Given the description of an element on the screen output the (x, y) to click on. 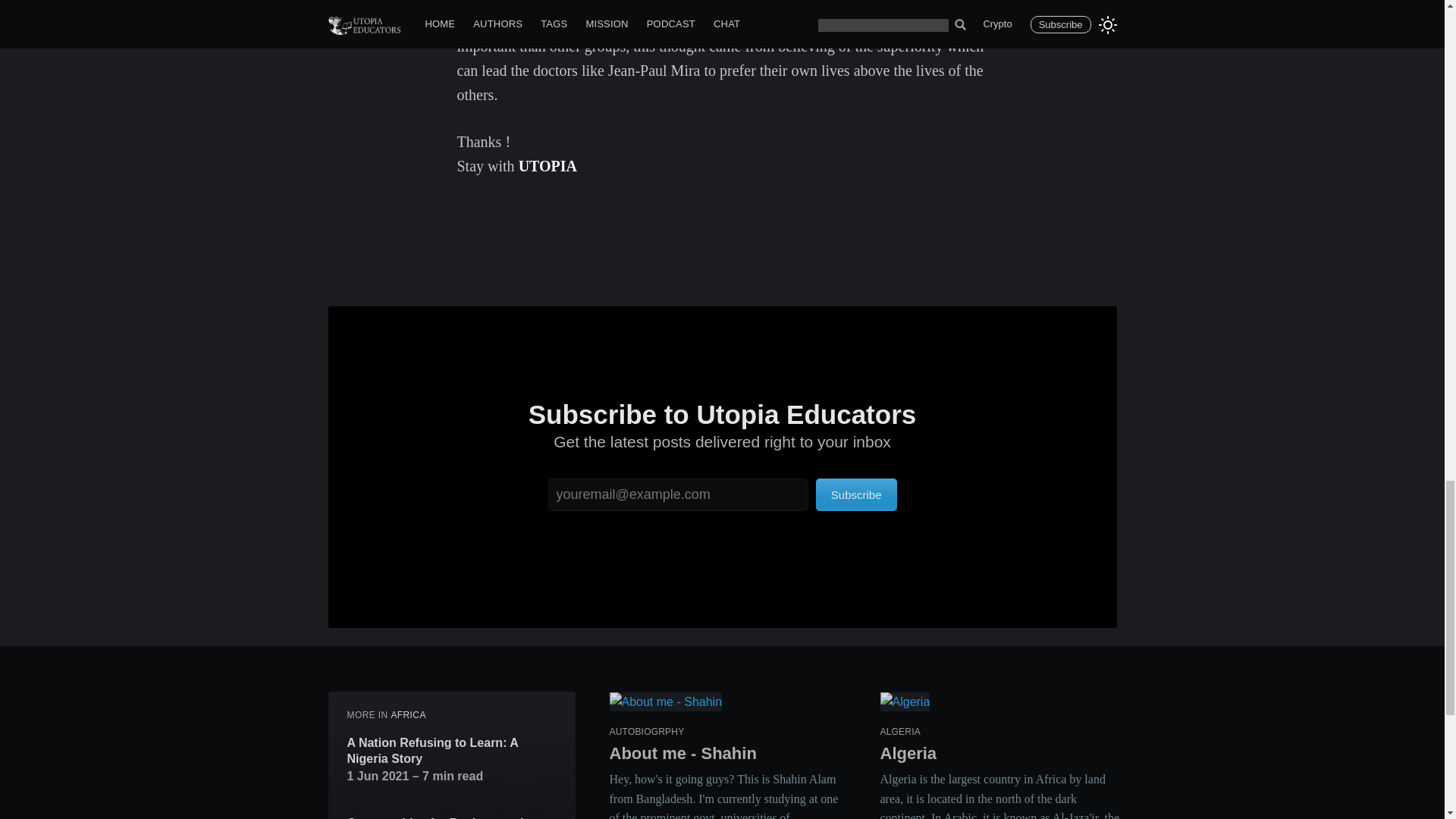
Opportunities for Businesses in Africa (451, 816)
AFRICA (407, 715)
Subscribe (855, 494)
A Nation Refusing to Learn: A Nigeria Story (451, 750)
